Given the description of an element on the screen output the (x, y) to click on. 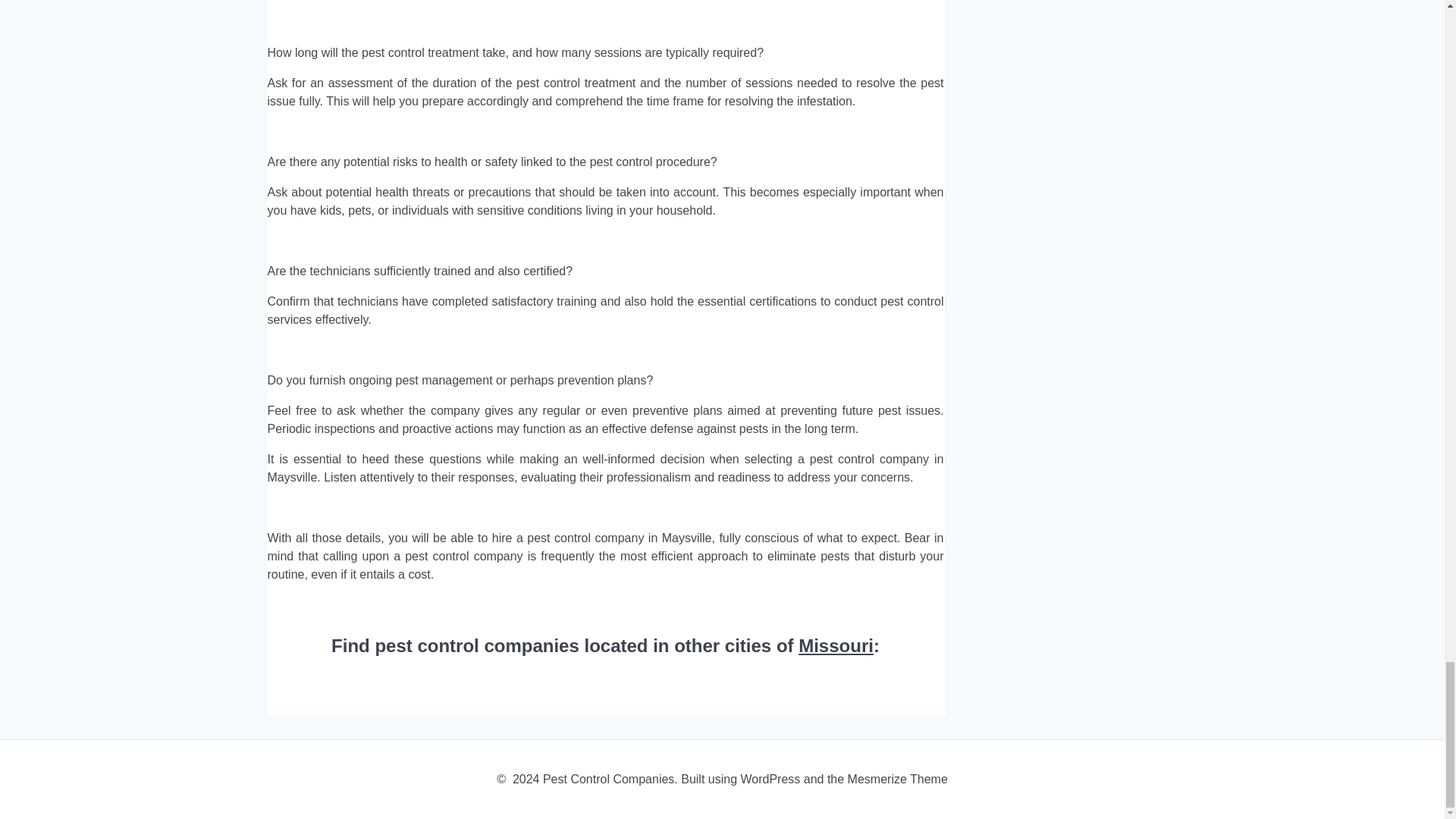
Missouri (835, 645)
